Given the description of an element on the screen output the (x, y) to click on. 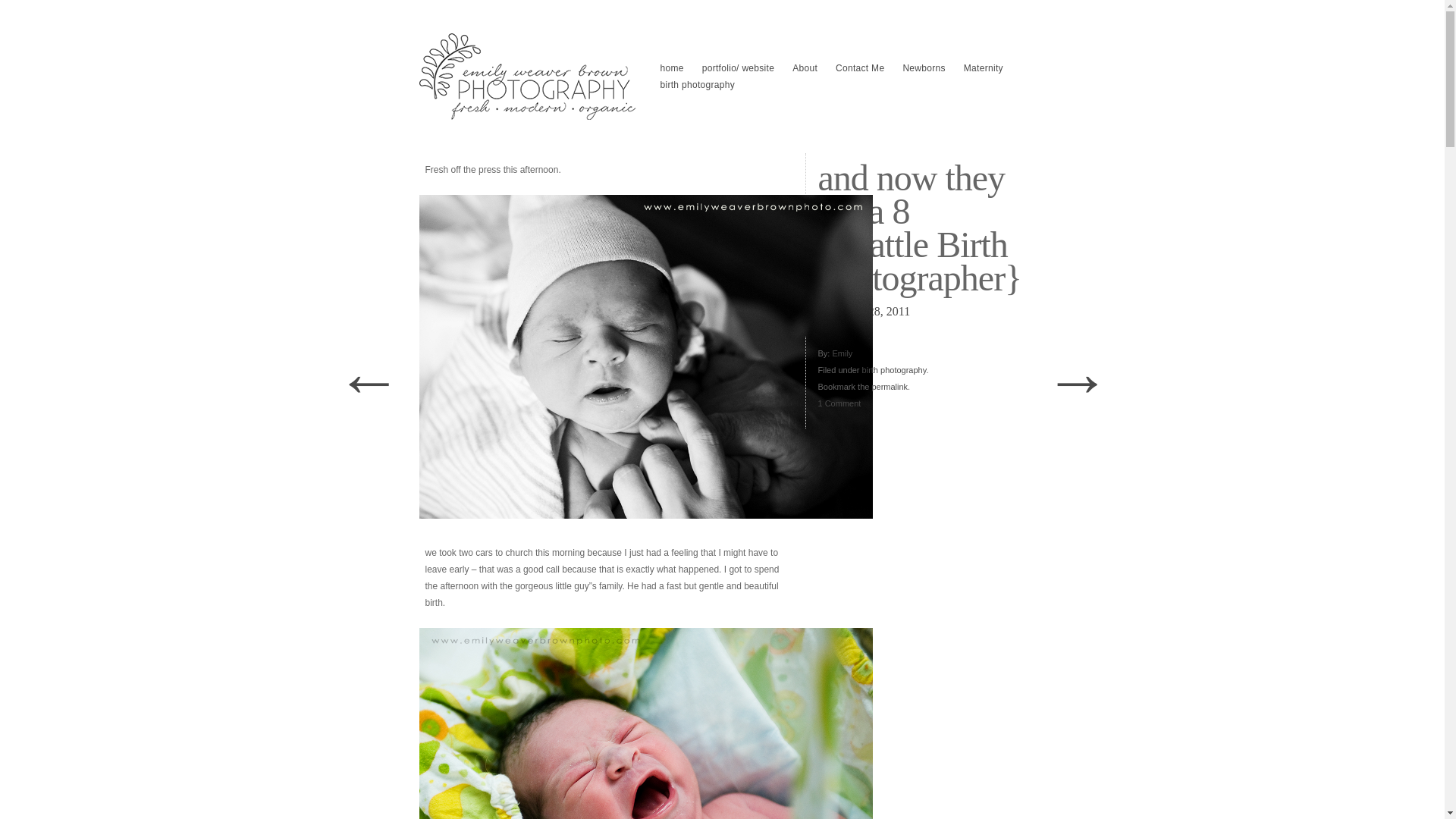
1 Comment (917, 402)
birth photography (893, 369)
permalink (888, 386)
Maternity (983, 67)
Newborns (923, 67)
Emily (841, 352)
About (805, 67)
home (671, 67)
August 28, 2011 (887, 311)
fresh, modern, organic (528, 76)
